Given the description of an element on the screen output the (x, y) to click on. 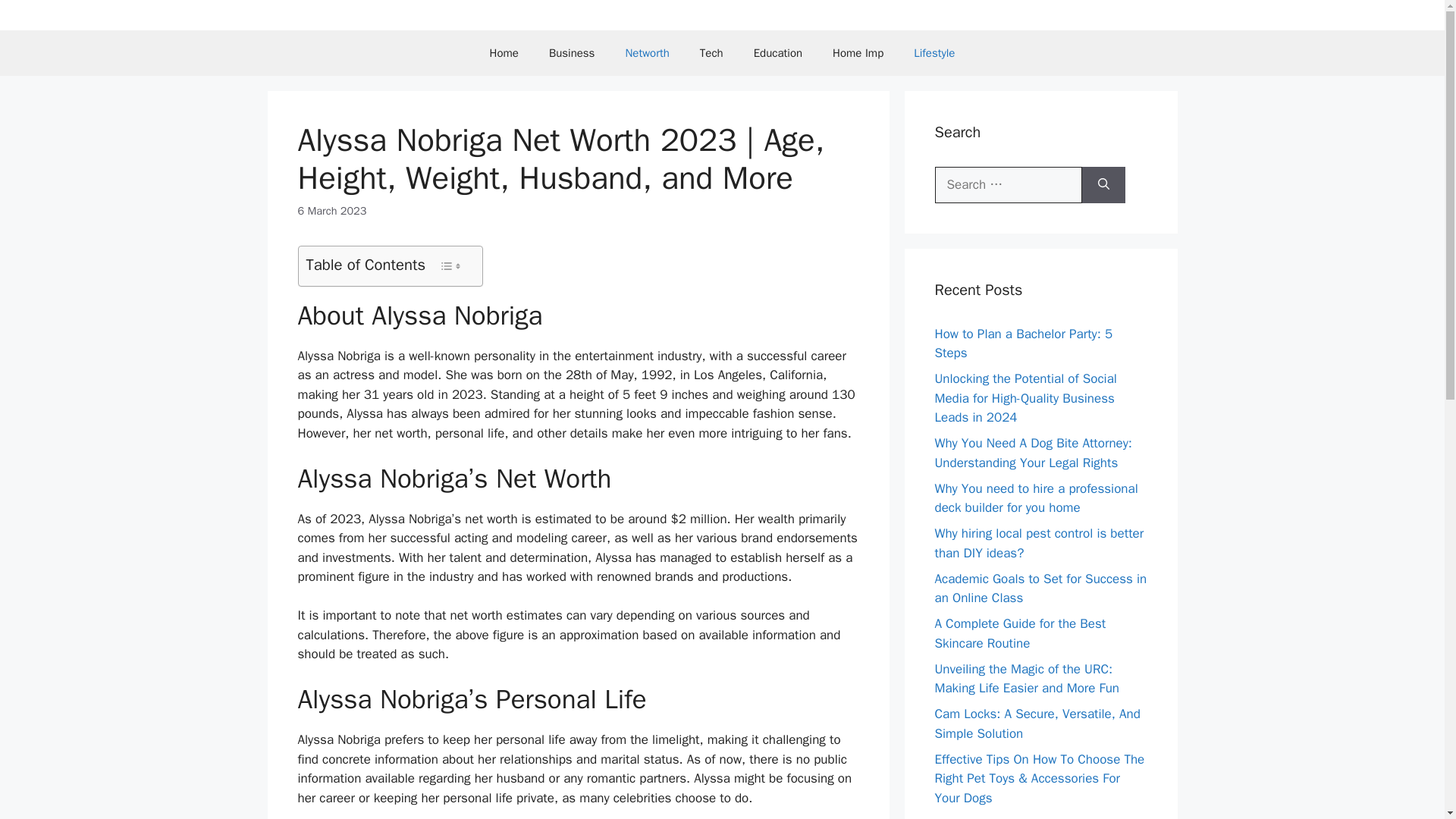
Home Imp (857, 53)
A Complete Guide for the Best Skincare Routine (1019, 633)
Search for: (1007, 185)
How to Plan a Bachelor Party: 5 Steps (1023, 343)
Education (777, 53)
Networth (647, 53)
Cam Locks: A Secure, Versatile, And Simple Solution (1037, 723)
Lifestyle (933, 53)
Home (504, 53)
Why hiring local pest control is better than DIY ideas? (1038, 543)
Academic Goals to Set for Success in an Online Class (1040, 588)
